Given the description of an element on the screen output the (x, y) to click on. 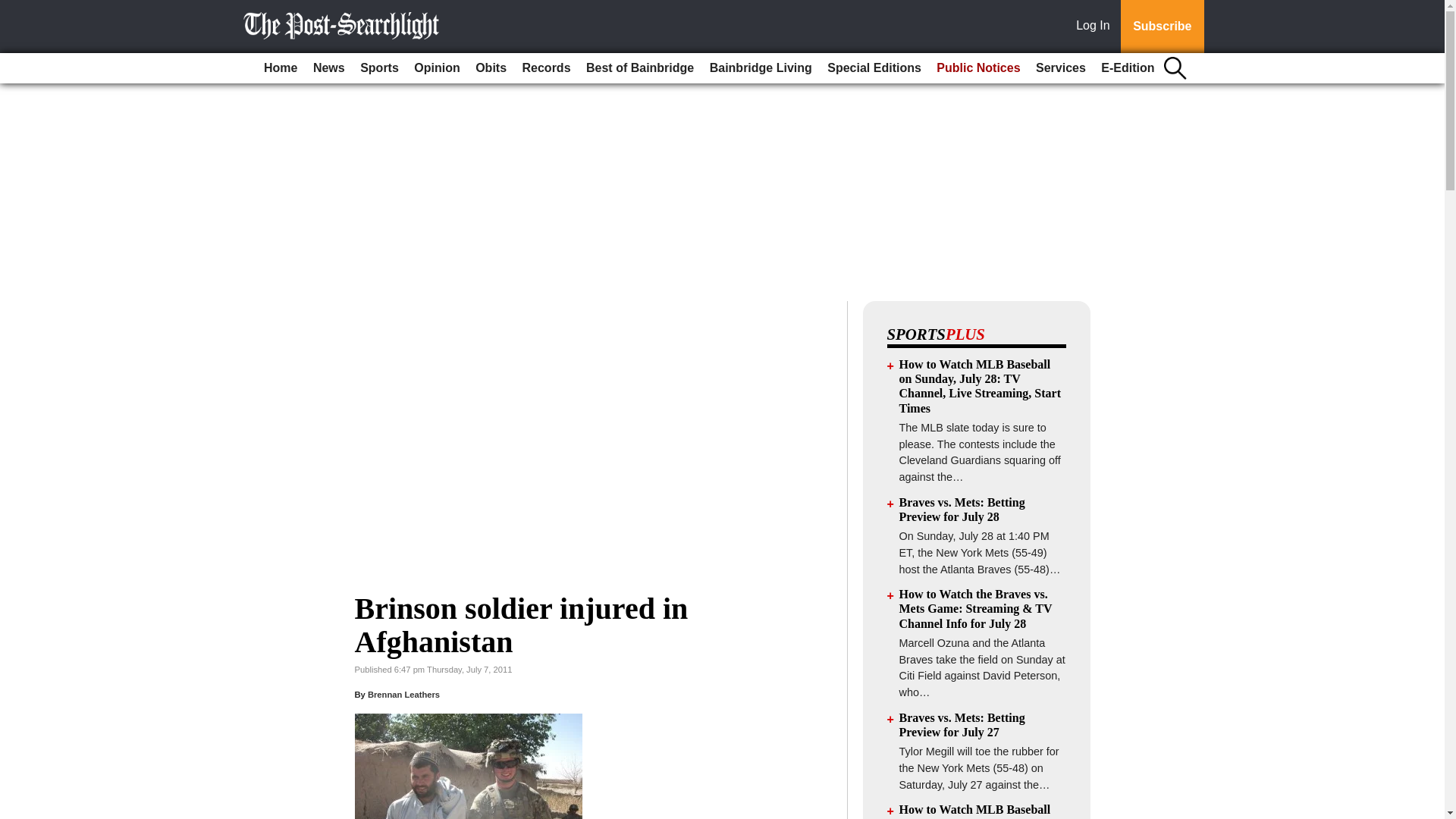
Home (279, 68)
Best of Bainbridge (639, 68)
Brennan Leathers (403, 694)
Records (546, 68)
Obits (490, 68)
Special Editions (874, 68)
Subscribe (1162, 26)
Services (1060, 68)
Bainbridge Living (760, 68)
Go (13, 9)
News (328, 68)
Log In (1095, 26)
Public Notices (978, 68)
Sports (378, 68)
E-Edition (1127, 68)
